Given the description of an element on the screen output the (x, y) to click on. 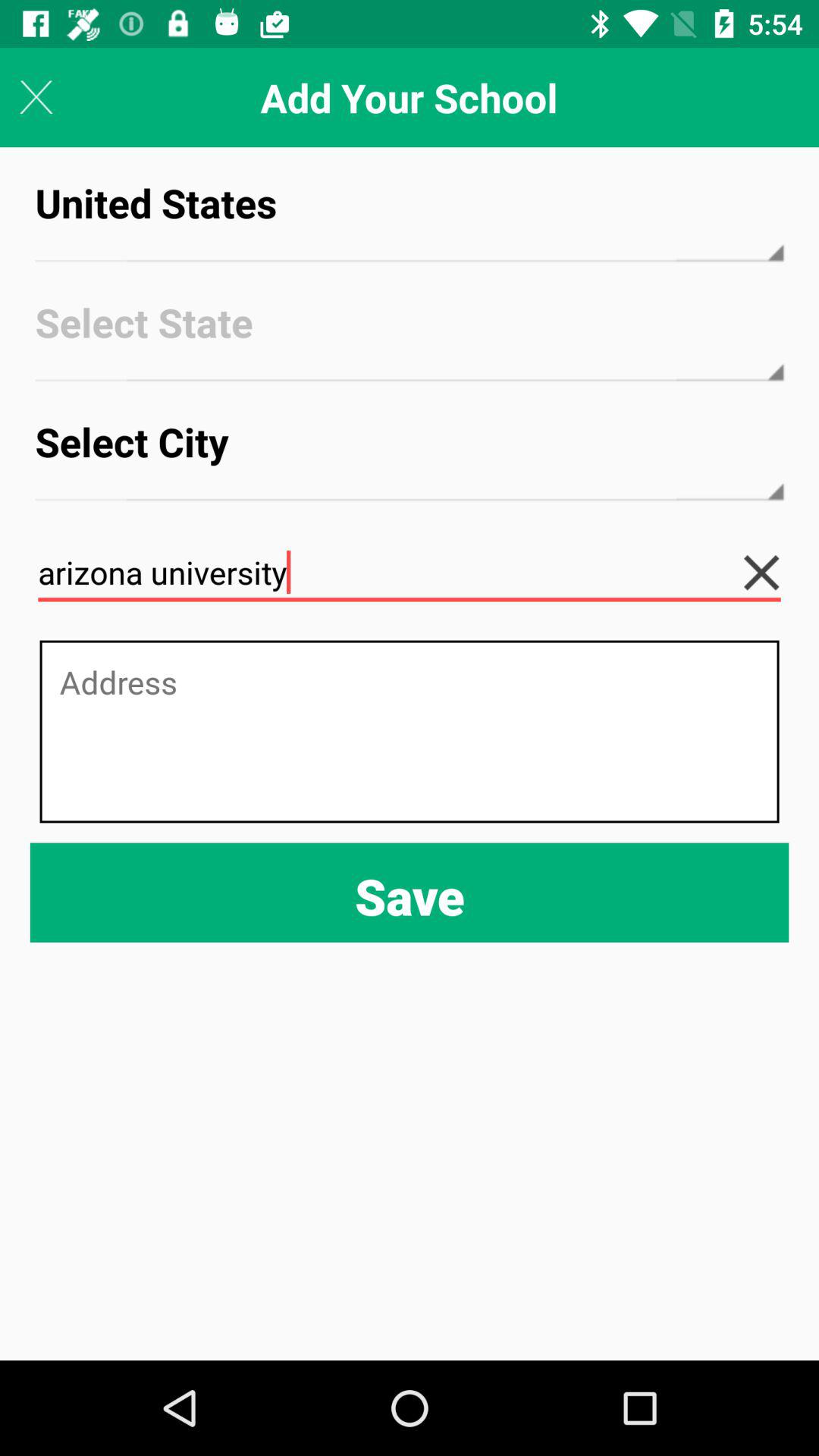
click icon on the right (773, 572)
